Given the description of an element on the screen output the (x, y) to click on. 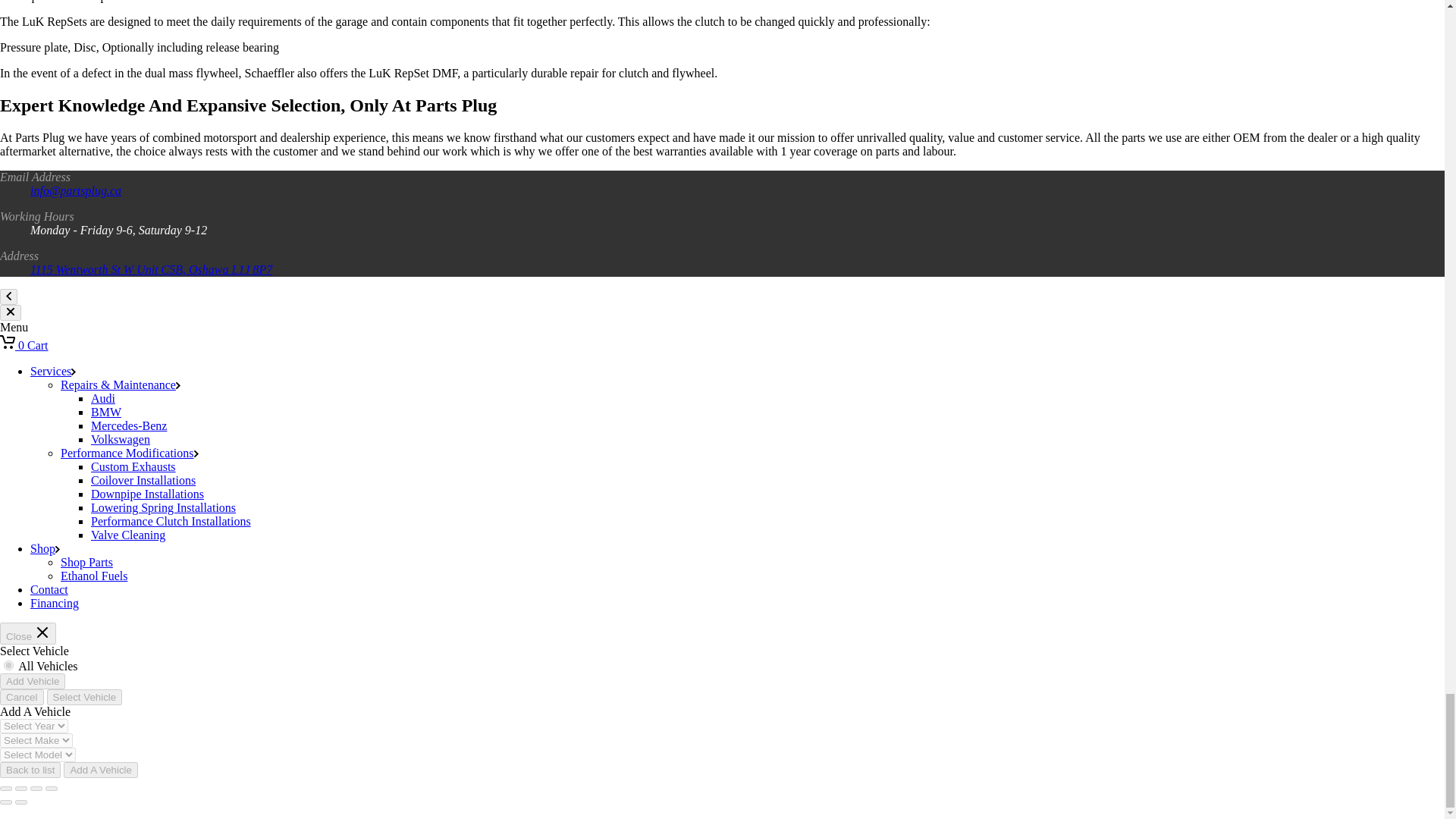
0 Cart (24, 345)
1115 Wentworth St W Unit C5B, Oshawa L1J 8P7 (151, 269)
on (8, 665)
